Given the description of an element on the screen output the (x, y) to click on. 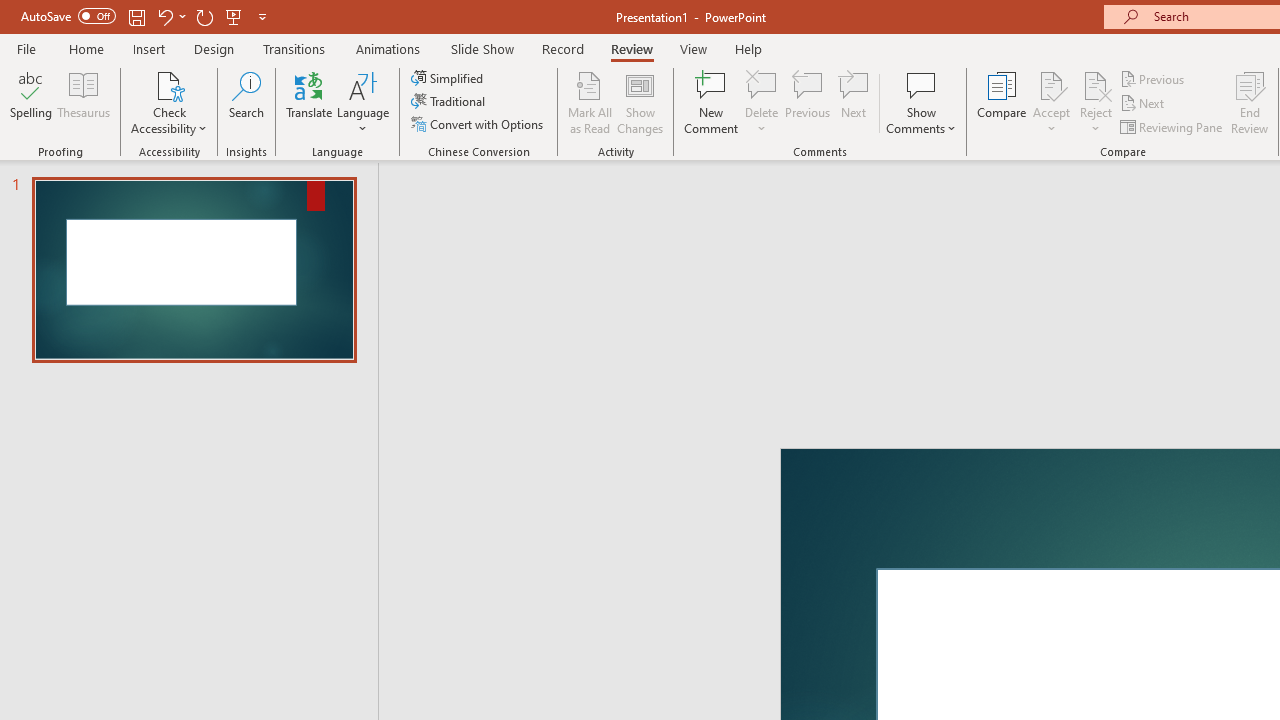
Translate (309, 102)
Delete (762, 84)
Convert with Options... (479, 124)
Mark All as Read (589, 102)
Show Comments (921, 84)
Show Comments (921, 102)
Next (1144, 103)
